Given the description of an element on the screen output the (x, y) to click on. 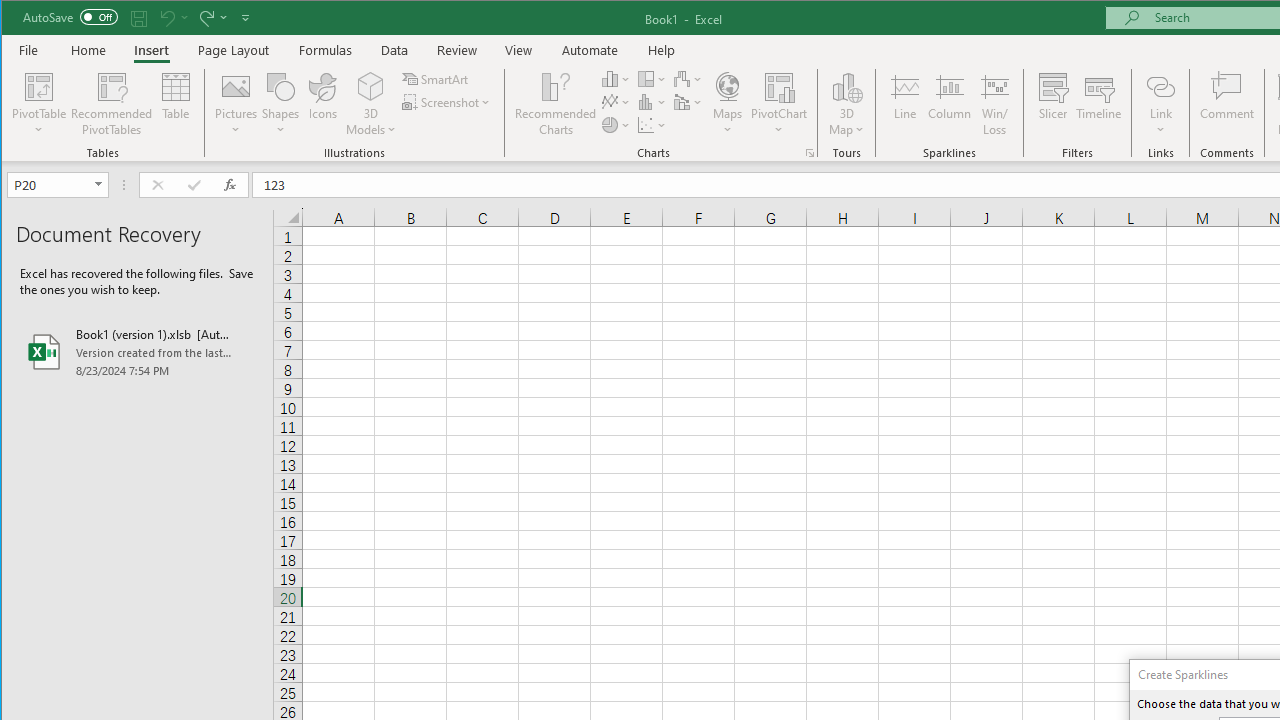
Insert Scatter (X, Y) or Bubble Chart (652, 124)
Insert Hierarchy Chart (652, 78)
Maps (727, 104)
Win/Loss (995, 104)
Pictures (235, 104)
Link (1160, 86)
Table (175, 104)
Slicer... (1052, 104)
Recommended Charts (809, 152)
